Given the description of an element on the screen output the (x, y) to click on. 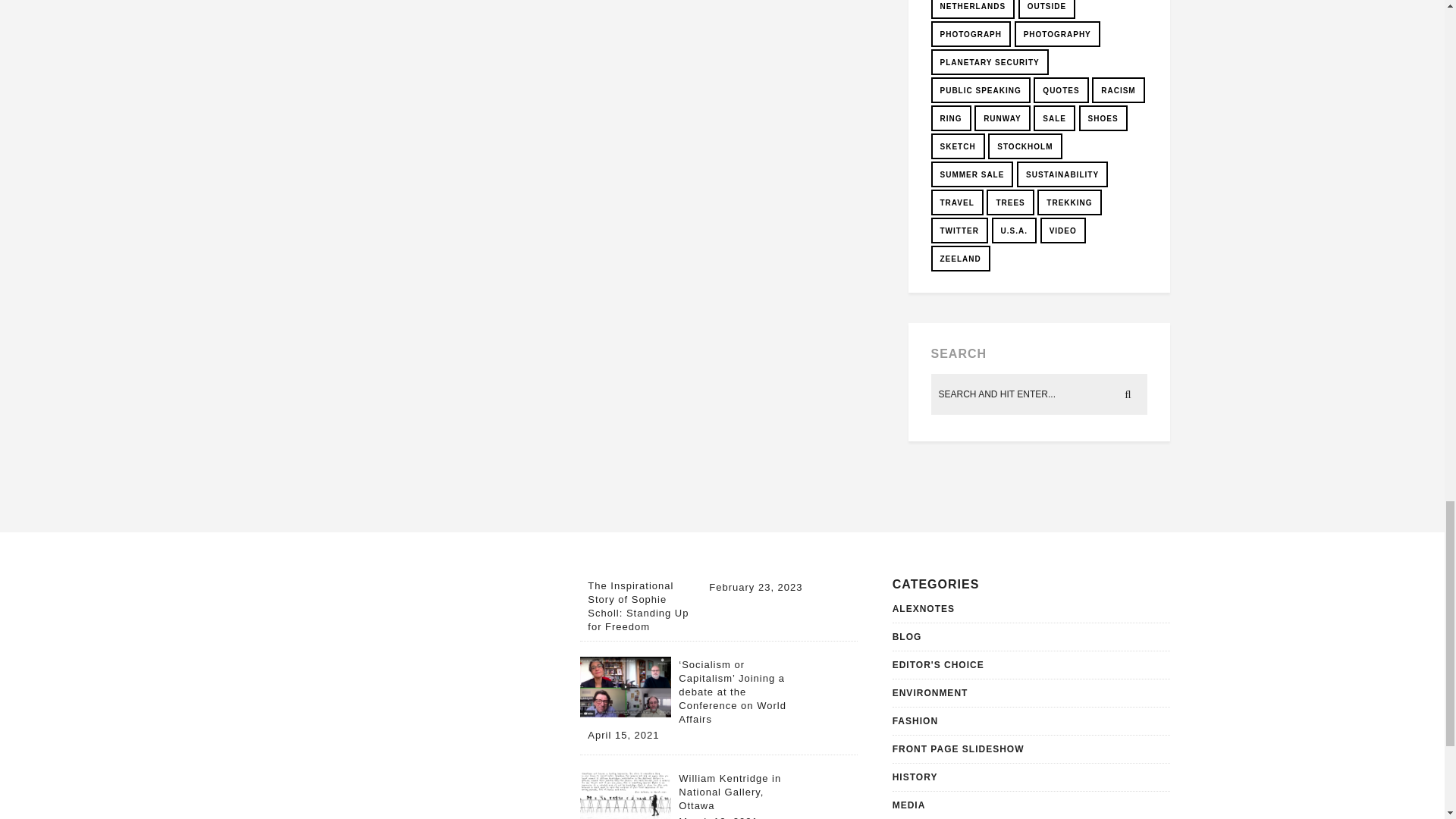
Search and hit enter... (1039, 393)
